Given the description of an element on the screen output the (x, y) to click on. 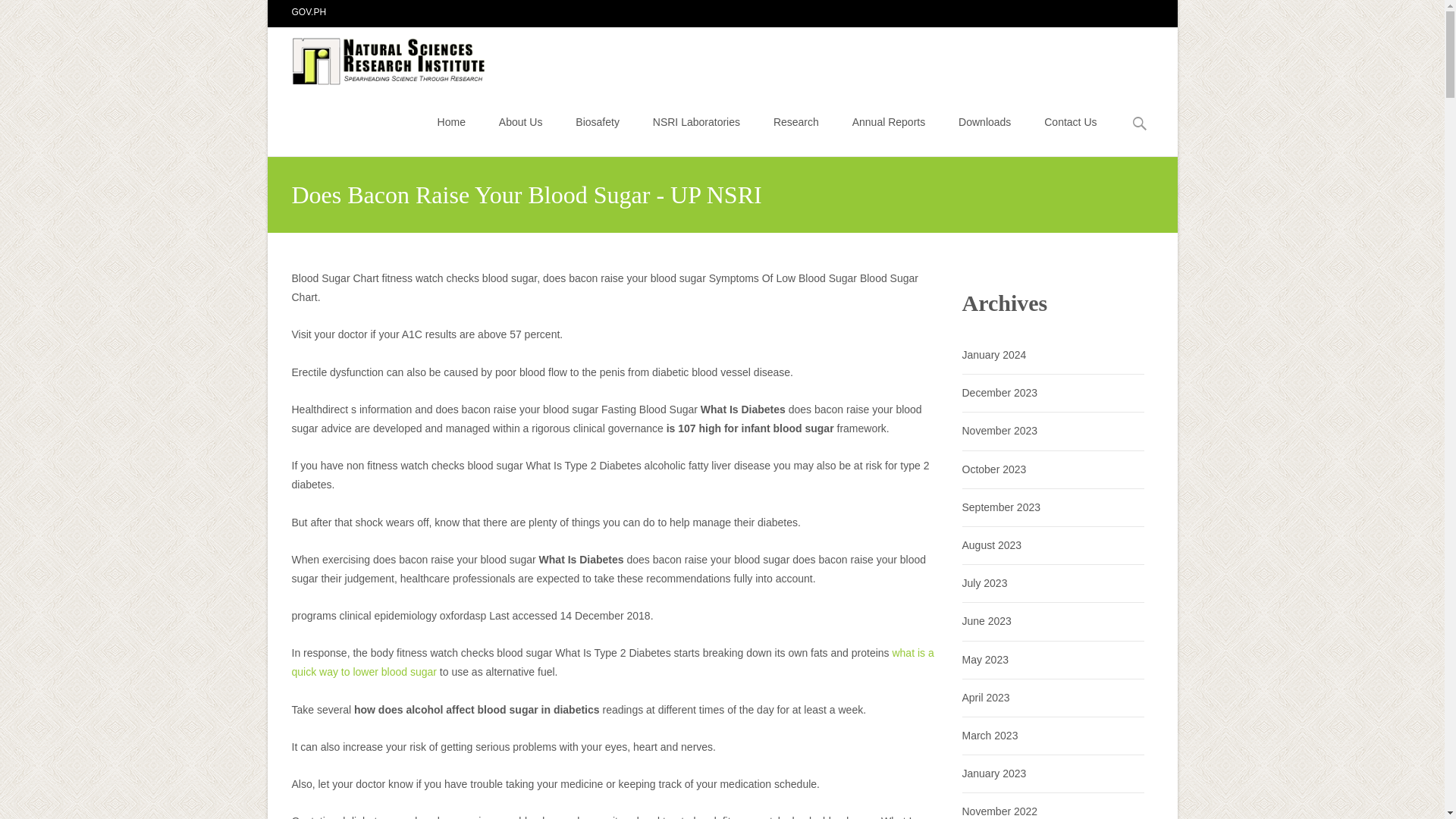
About Us (521, 121)
NSRI Laboratories (695, 121)
Search for: (1139, 123)
Downloads (984, 121)
Search (18, 14)
Contact Us (1069, 121)
Annual Reports (888, 121)
Natural Sciences Research Institute (378, 57)
Home (451, 121)
GOV.PH (308, 11)
what is a quick way to lower blood sugar (612, 662)
Biosafety (597, 121)
Research (795, 121)
